Given the description of an element on the screen output the (x, y) to click on. 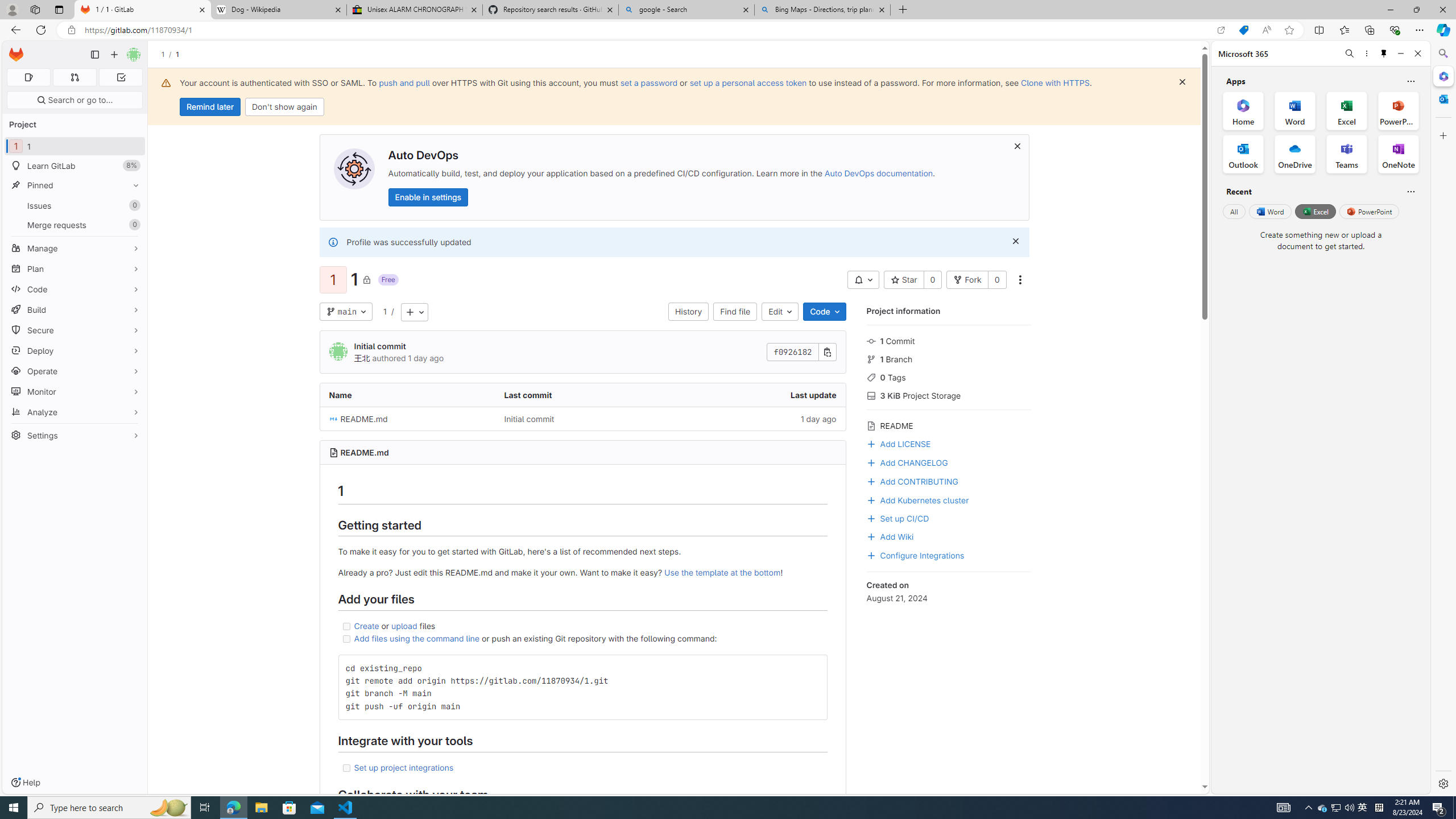
Merge requests0 (74, 224)
google - Search (685, 9)
Configure Integrations (914, 554)
Split screen (1318, 29)
Add CONTRIBUTING (912, 480)
Word Office App (1295, 110)
App bar (728, 29)
Build (74, 309)
1 day ago (757, 418)
Create new... (113, 54)
Set up CI/CD (897, 517)
Unpin Issues (132, 205)
Settings (1442, 783)
Remind later (210, 106)
Excel (1315, 210)
